Given the description of an element on the screen output the (x, y) to click on. 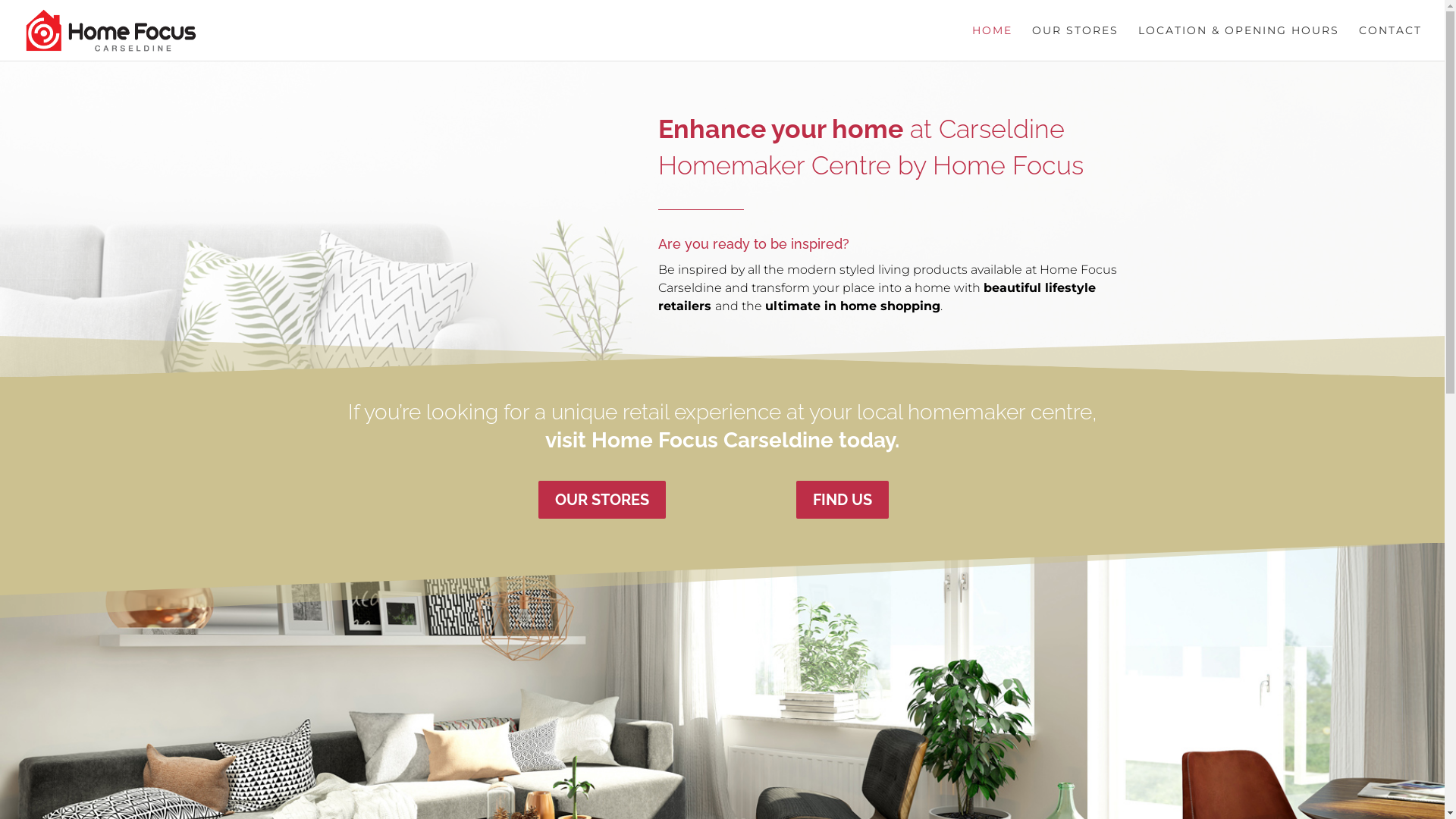
OUR STORES Element type: text (601, 499)
FIND US Element type: text (842, 499)
CONTACT Element type: text (1389, 42)
HOME Element type: text (992, 42)
OUR STORES Element type: text (1075, 42)
LOCATION & OPENING HOURS Element type: text (1238, 42)
